Given the description of an element on the screen output the (x, y) to click on. 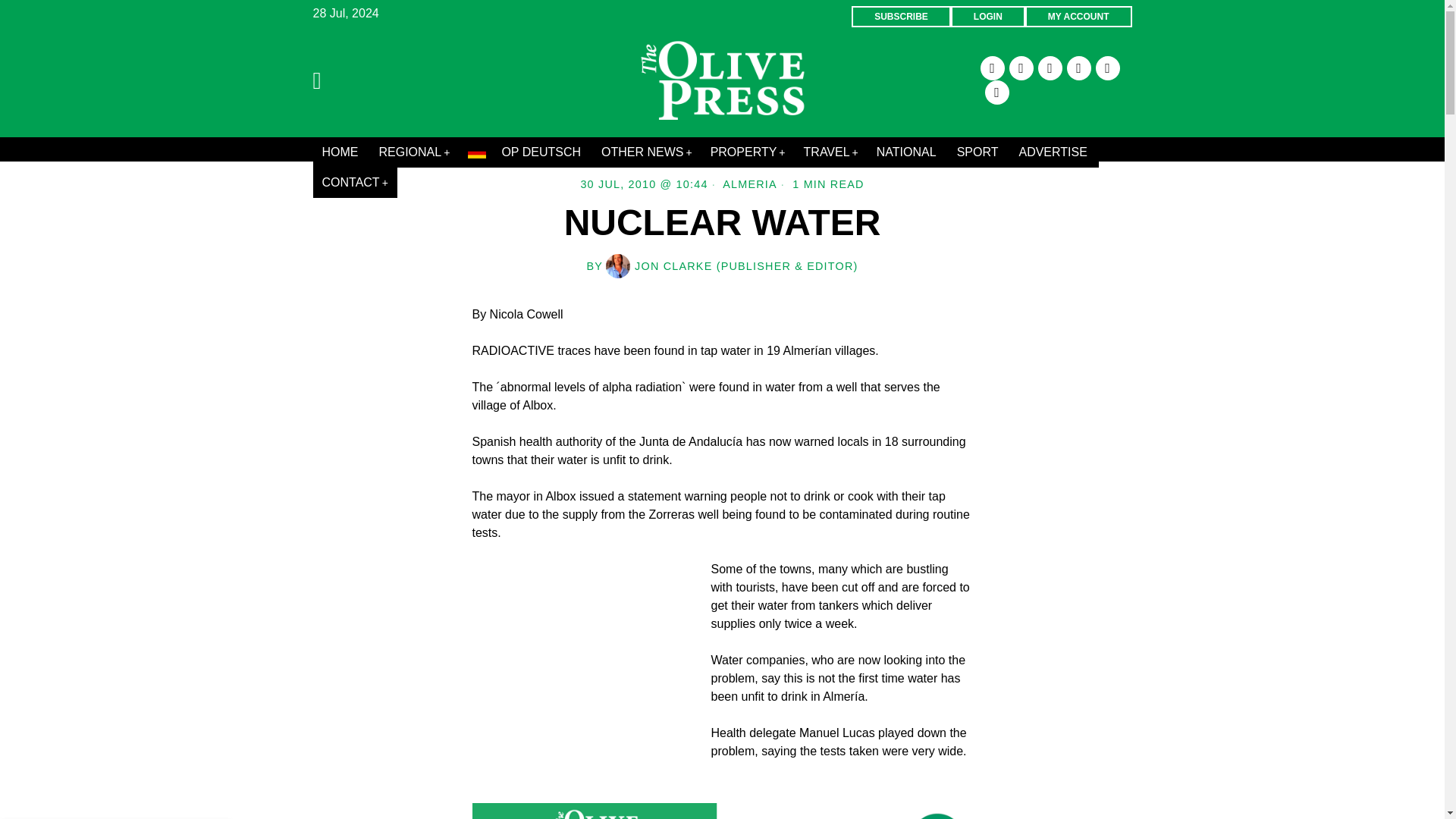
OP DEUTSCH (525, 152)
HOME (341, 152)
SUBSCRIBE (900, 16)
30 Jul, 2010 10:33:44 (643, 183)
LOGIN (987, 16)
OTHER NEWS (646, 152)
REGIONAL (414, 152)
MY ACCOUNT (1078, 16)
